Given the description of an element on the screen output the (x, y) to click on. 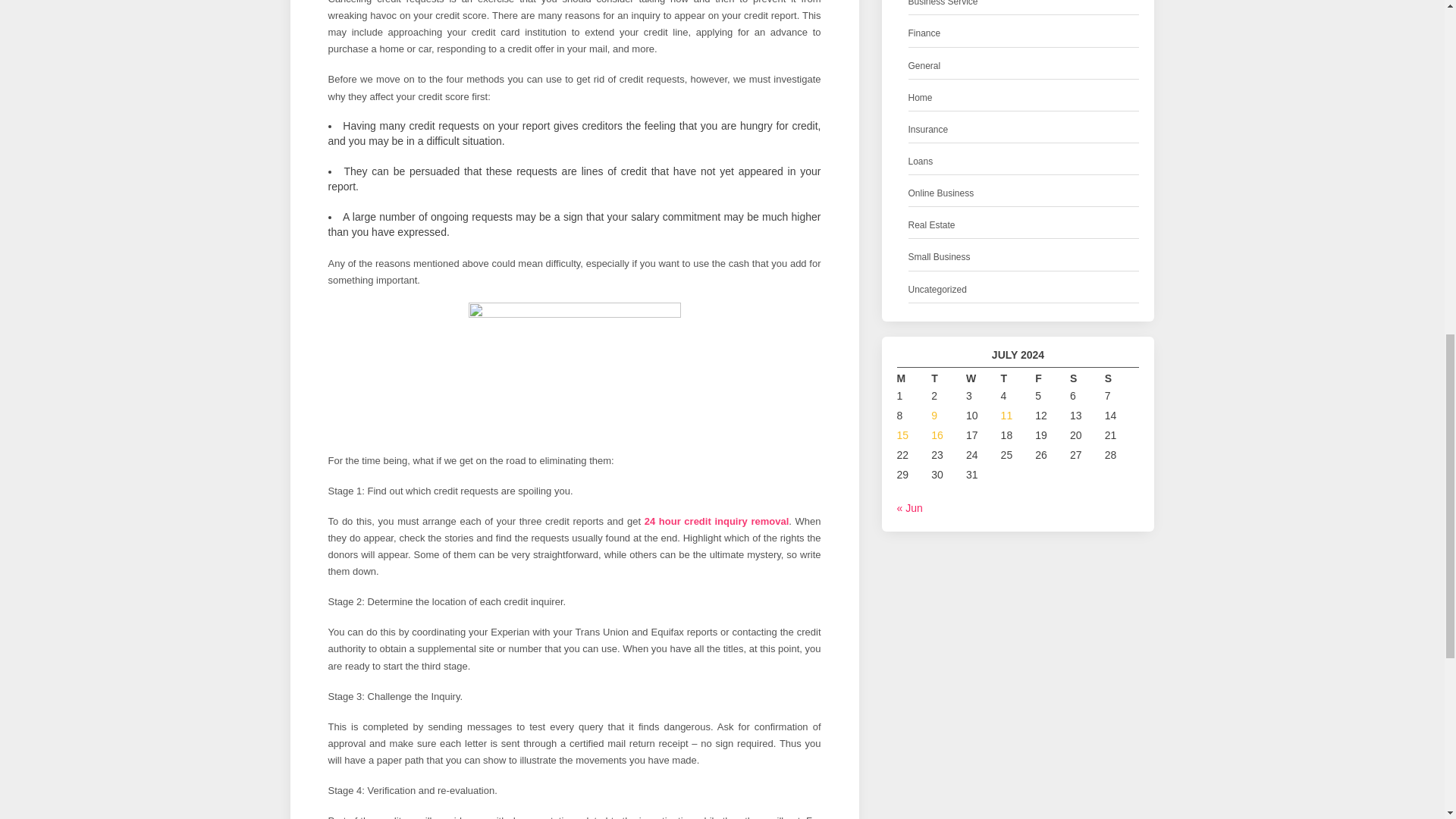
Insurance (928, 130)
16 (937, 435)
Business Service (943, 4)
Finance (924, 33)
Small Business (939, 257)
24 hour credit inquiry removal (717, 521)
Sunday (1122, 378)
Online Business (941, 193)
Home (920, 98)
Saturday (1087, 378)
General (924, 66)
Friday (1052, 378)
Loans (920, 161)
Thursday (1018, 378)
Real Estate (931, 225)
